Given the description of an element on the screen output the (x, y) to click on. 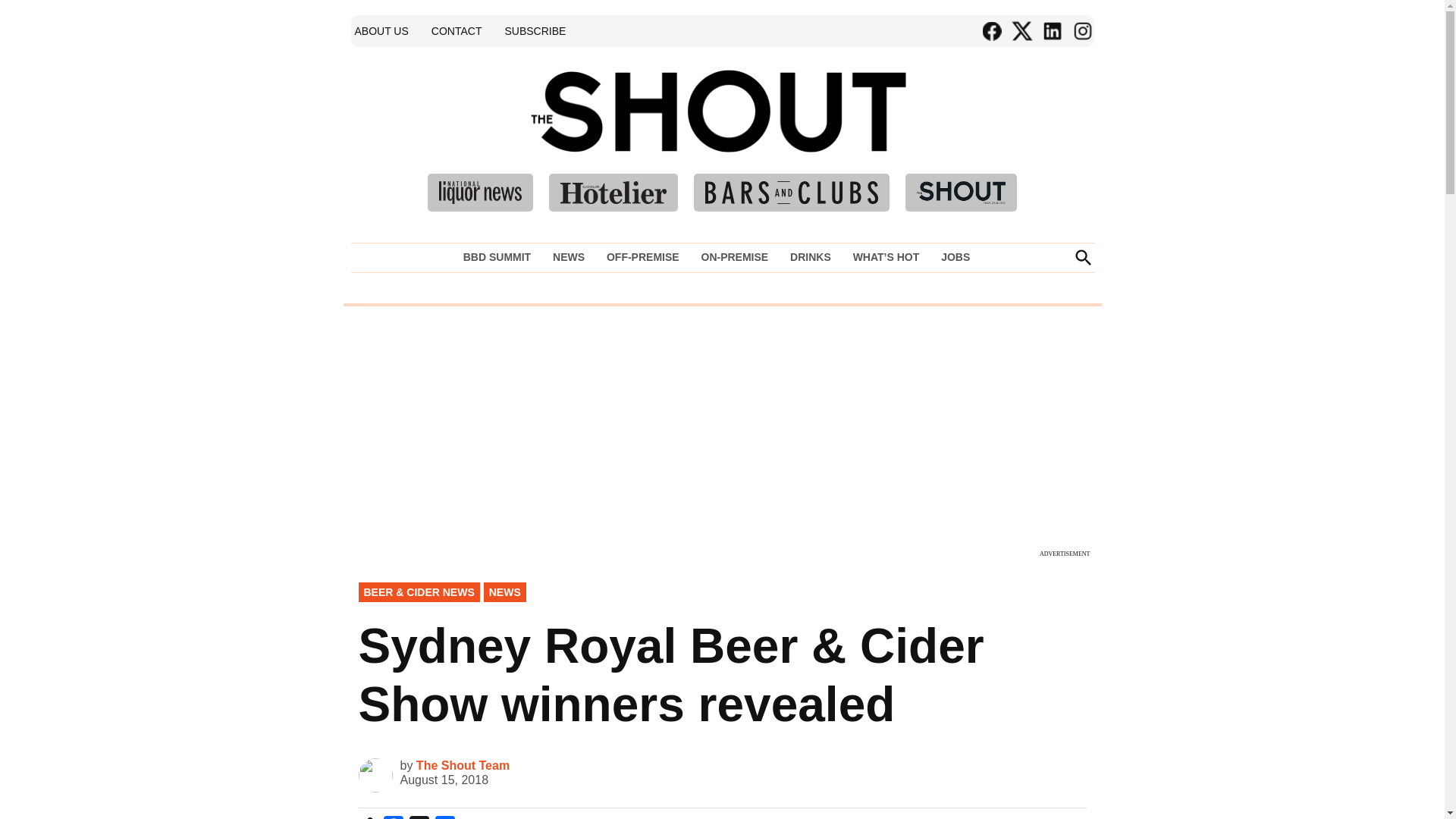
Twitter (1021, 31)
NEWS (568, 256)
The Shout (939, 133)
OFF-PREMISE (642, 256)
X (419, 817)
Facebook (393, 817)
Instagram (1081, 31)
SUBSCRIBE (534, 30)
BBD SUMMIT (500, 256)
ABOUT US (381, 30)
CONTACT (457, 30)
Linkedin (1051, 31)
ON-PREMISE (734, 256)
Facebook (991, 31)
